Given the description of an element on the screen output the (x, y) to click on. 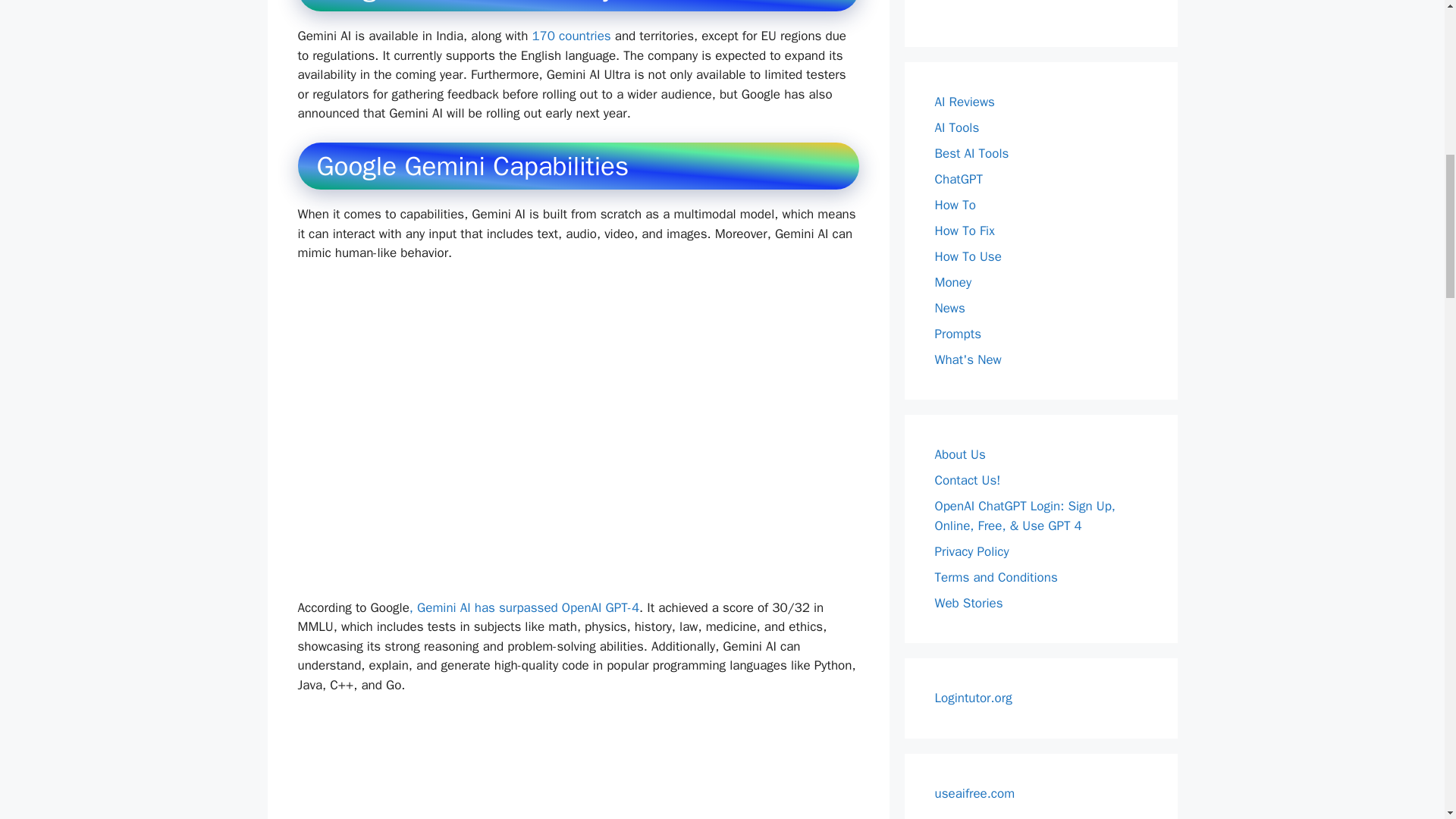
170 countries (570, 35)
Scroll back to top (1406, 720)
, Gemini AI has surpassed OpenAI GPT-4 (524, 607)
